Given the description of an element on the screen output the (x, y) to click on. 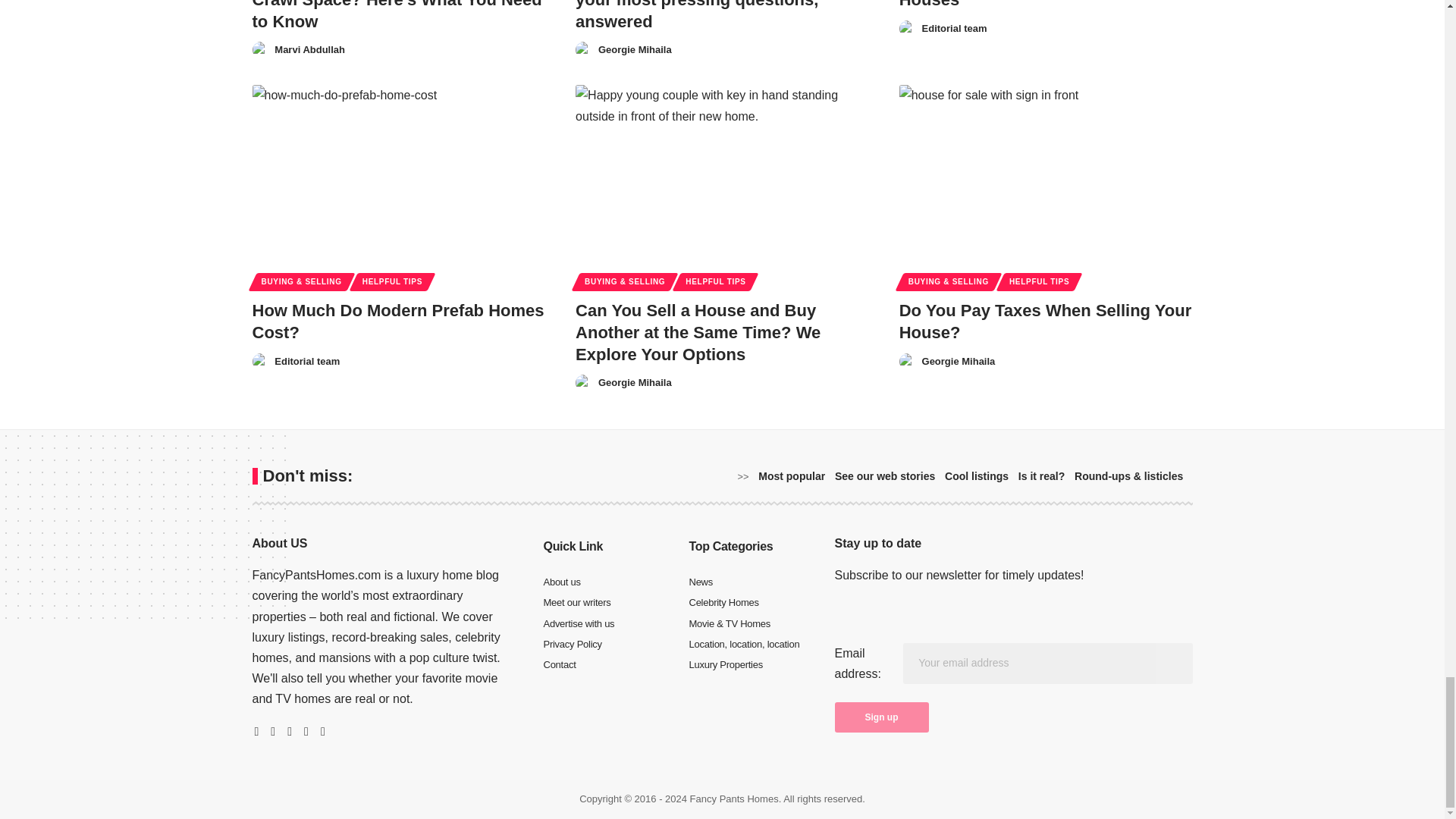
Do You Pay Taxes When Selling Your House? (1045, 173)
How Much Do Modern Prefab Homes Cost? (397, 173)
Sign up (881, 716)
